Given the description of an element on the screen output the (x, y) to click on. 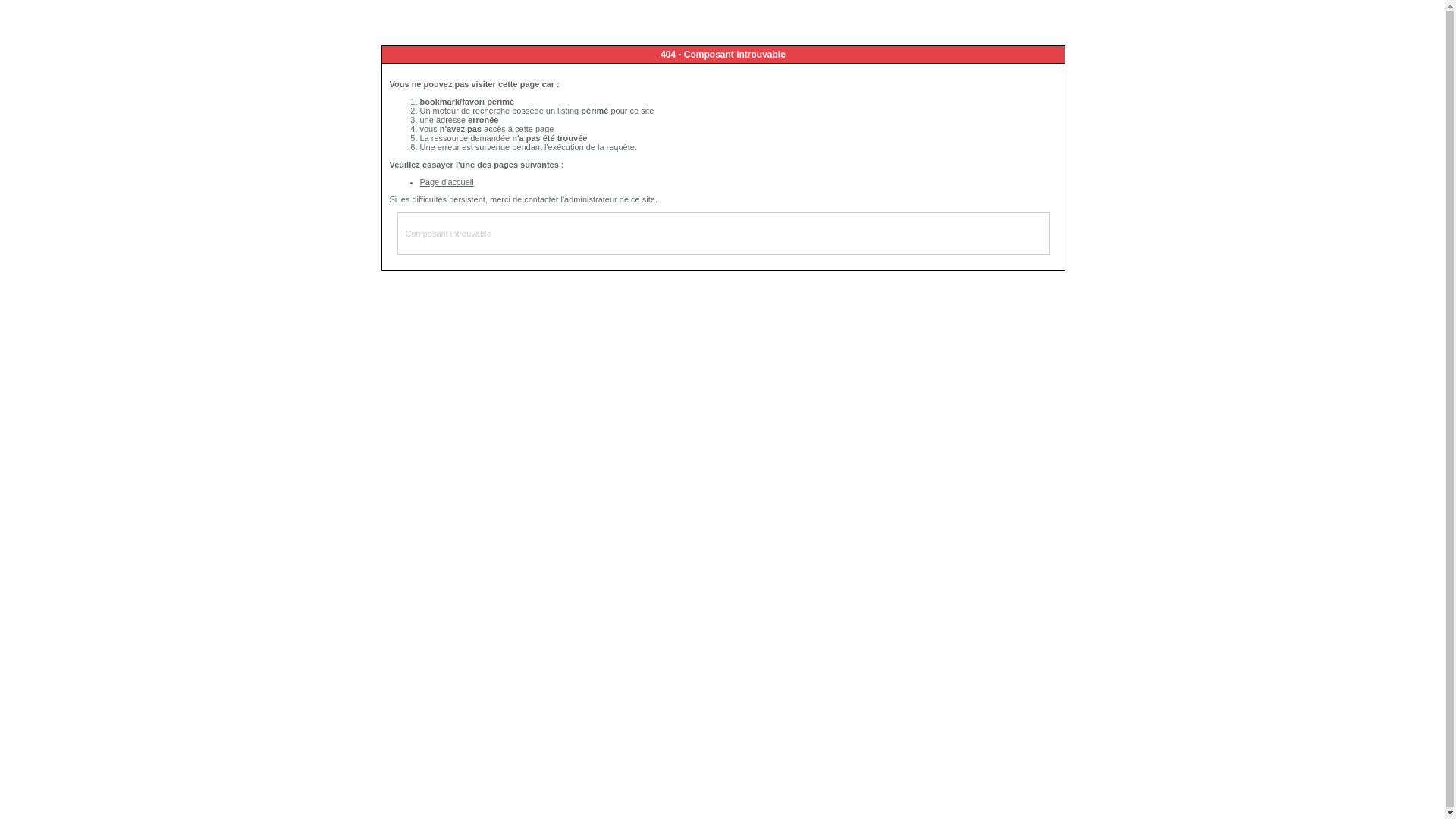
Page d'accueil Element type: text (446, 181)
